Given the description of an element on the screen output the (x, y) to click on. 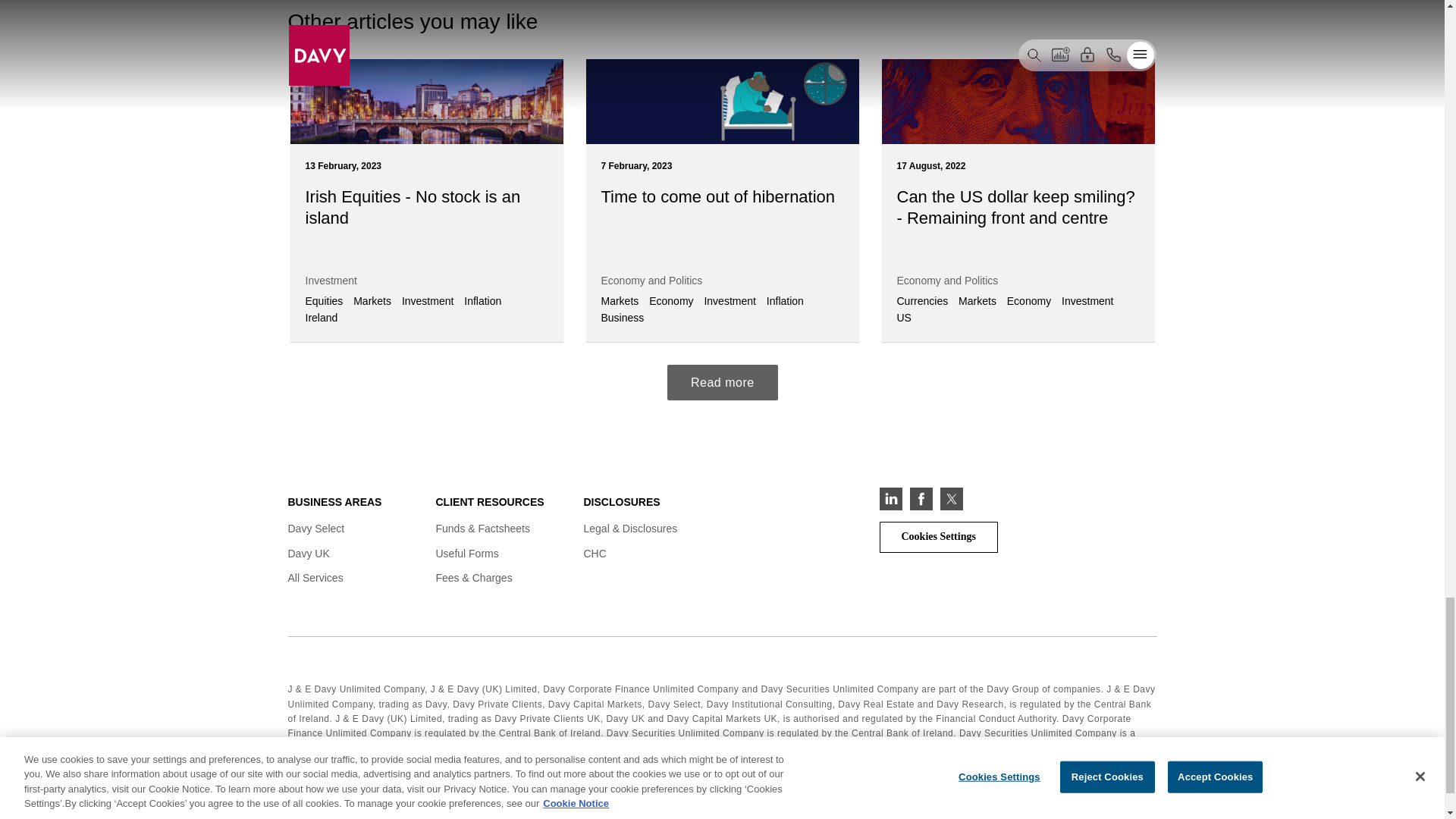
Linkedin (890, 498)
Twitter (951, 498)
Facebook (921, 498)
Youtube (981, 498)
Signup to download the Outlook 2023 edition of MarketWatch. (721, 382)
